Given the description of an element on the screen output the (x, y) to click on. 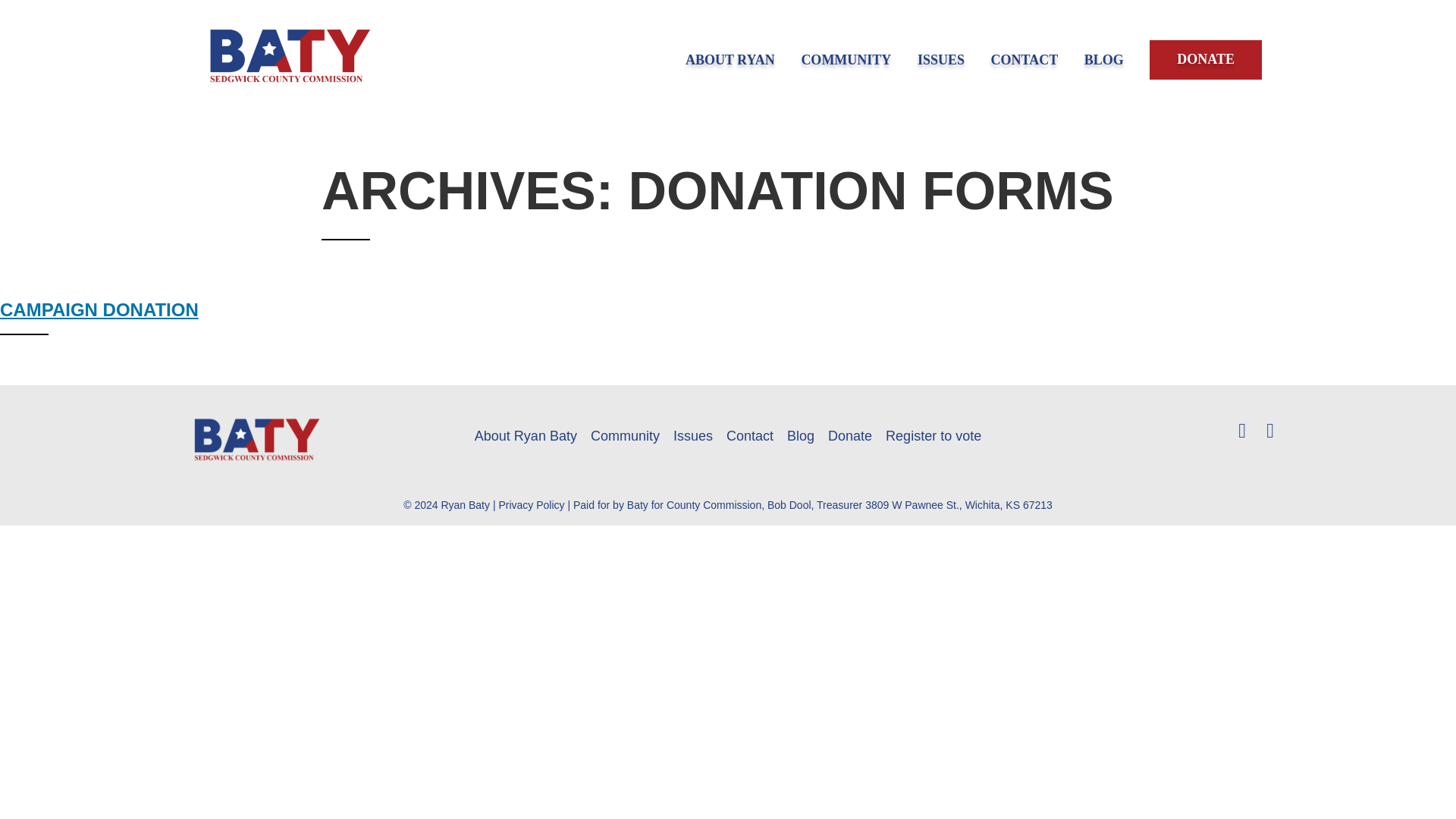
Issues (692, 435)
Register to vote (933, 435)
Contact (749, 435)
CONTACT (1024, 59)
Blog (800, 435)
ISSUES (940, 59)
About Ryan Baty (525, 435)
Donate (850, 435)
Privacy Policy (530, 504)
BLOG (1104, 59)
COMMUNITY (845, 59)
Community (625, 435)
DONATE (1206, 59)
ABOUT RYAN (729, 59)
